Given the description of an element on the screen output the (x, y) to click on. 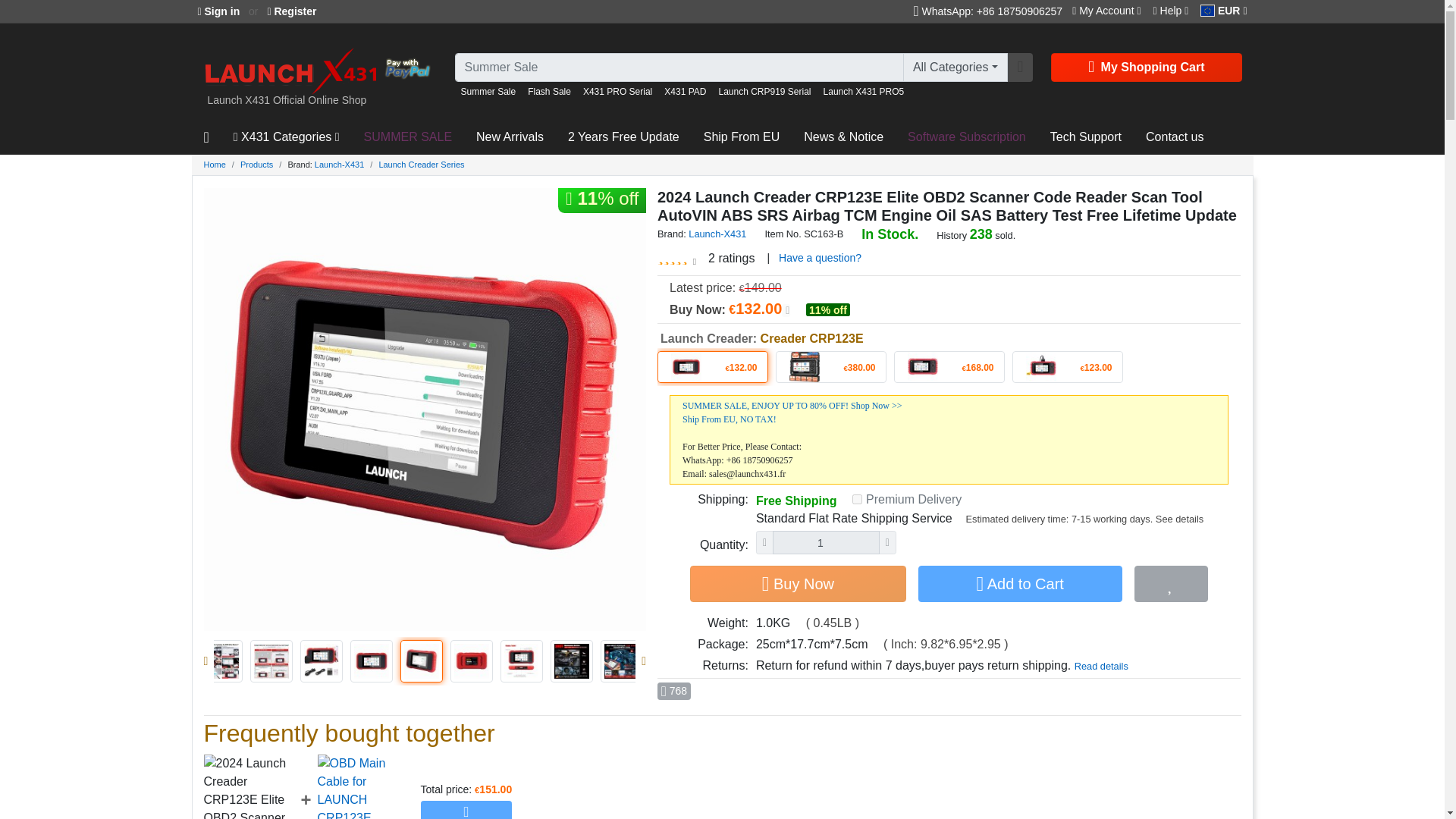
My Shopping Cart (1146, 67)
Sign in (218, 11)
My Account (1106, 11)
Register (290, 11)
X431 PAD (684, 91)
Help (1171, 11)
on (856, 499)
EUR (1222, 11)
